Given the description of an element on the screen output the (x, y) to click on. 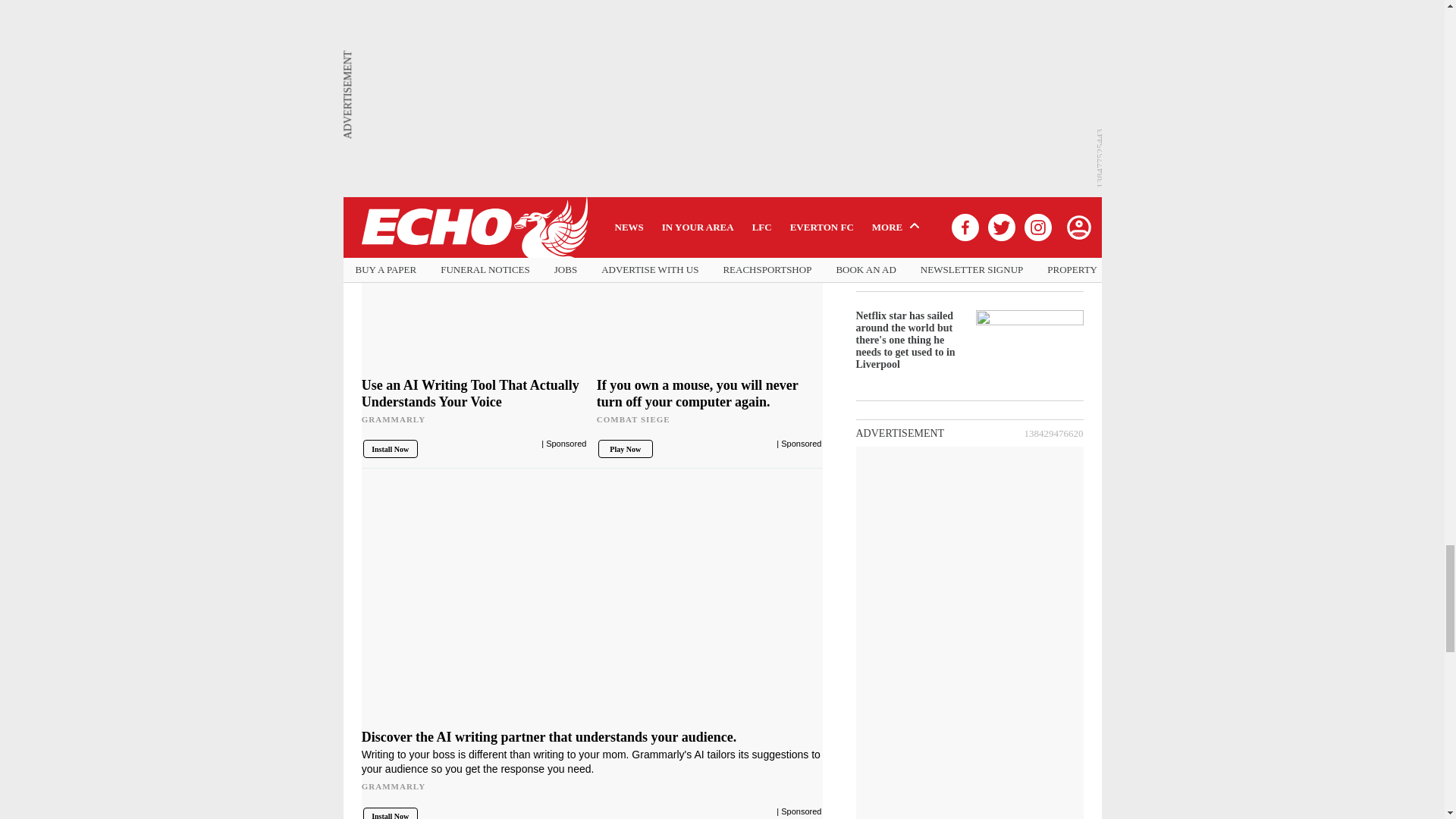
Use an AI Writing Tool That Actually Understands Your Voice (474, 406)
Use an AI Writing Tool That Actually Understands Your Voice (474, 302)
Write Better and Faster With This Desktop App (591, 47)
Write Better and Faster With This Desktop App (591, 144)
